Given the description of an element on the screen output the (x, y) to click on. 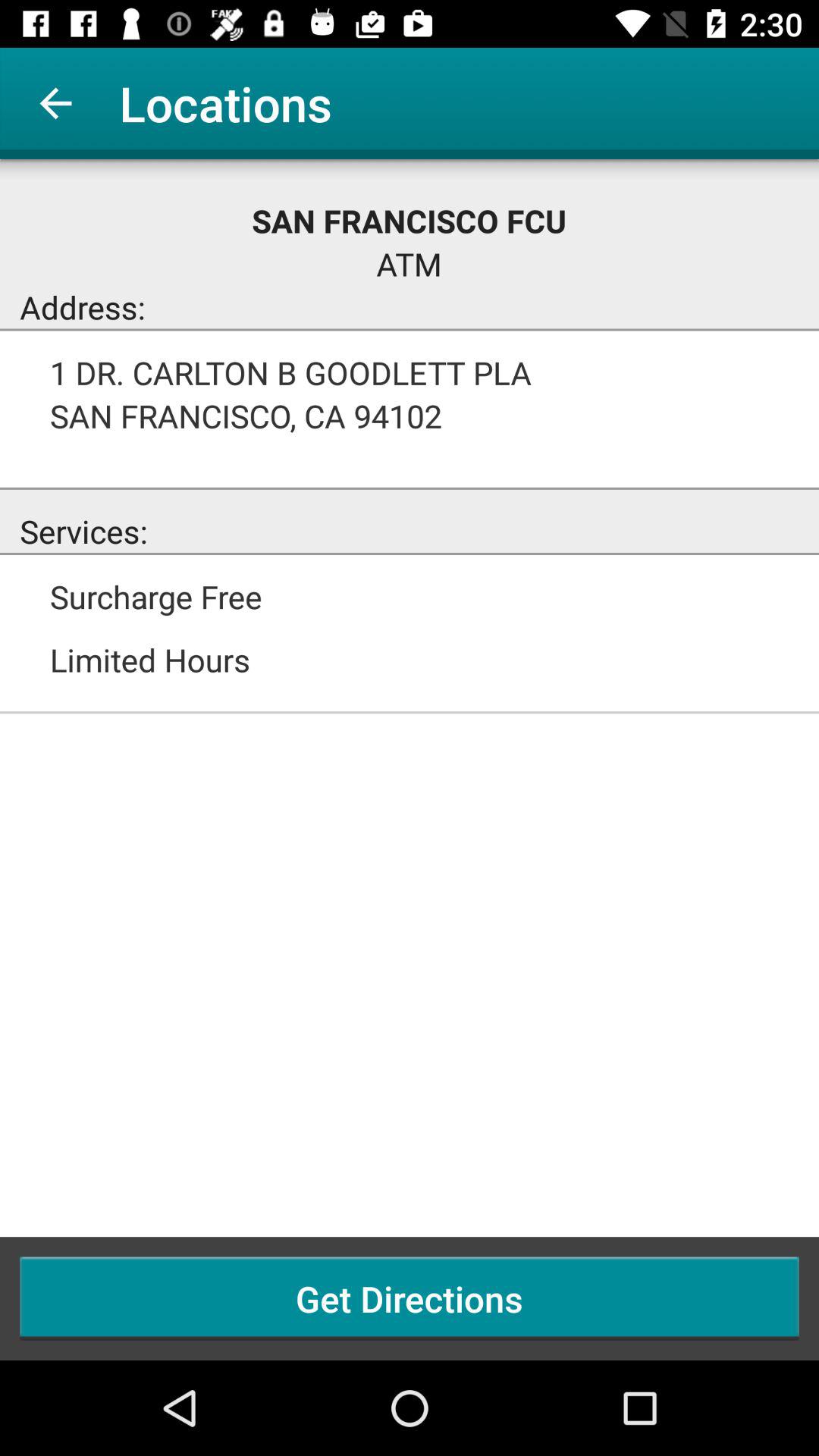
open the app next to locations (55, 103)
